Given the description of an element on the screen output the (x, y) to click on. 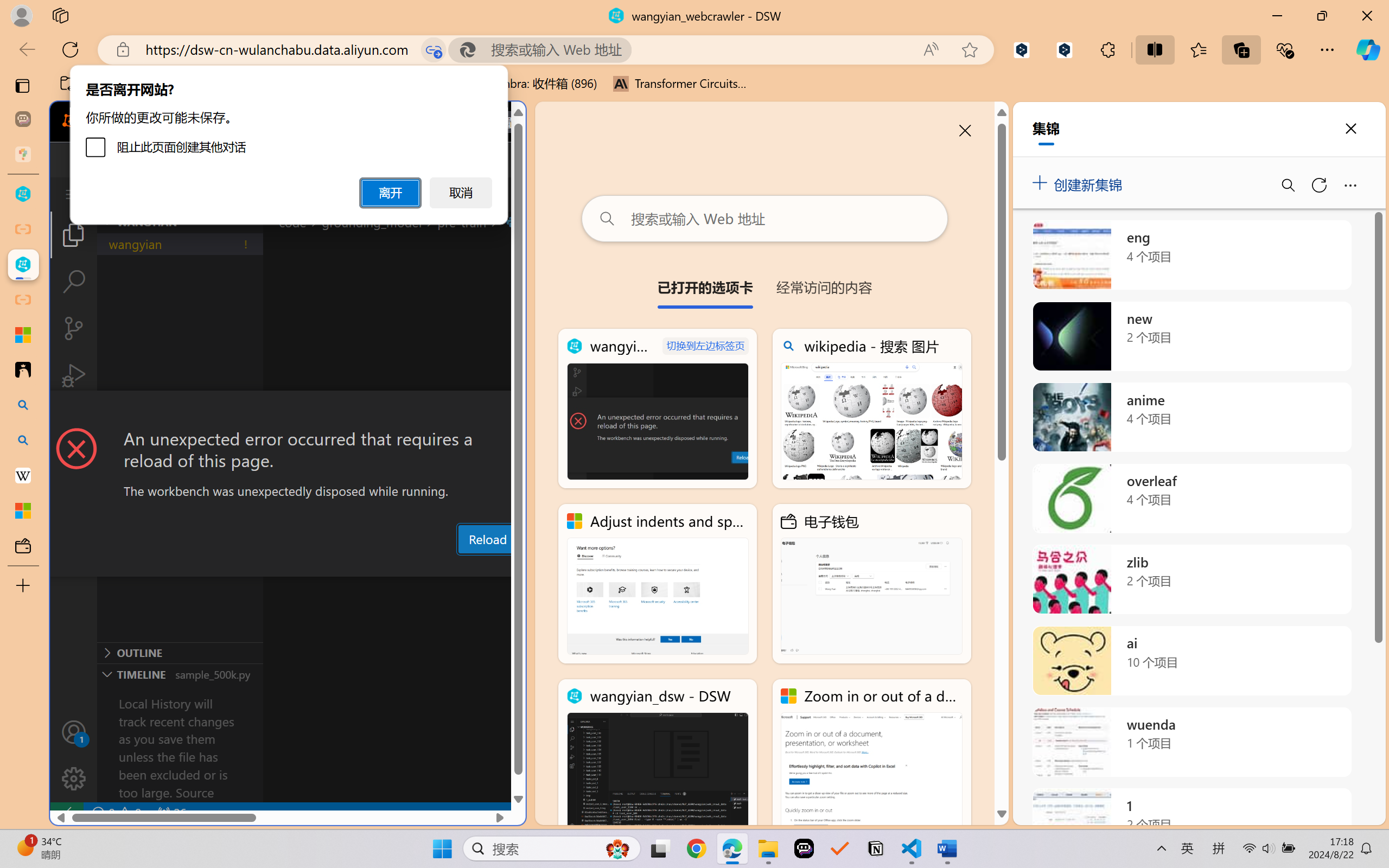
Class: actions-container (287, 410)
Extensions (Ctrl+Shift+X) (73, 422)
Manage (73, 778)
Adjust indents and spacing - Microsoft Support (22, 334)
